Given the description of an element on the screen output the (x, y) to click on. 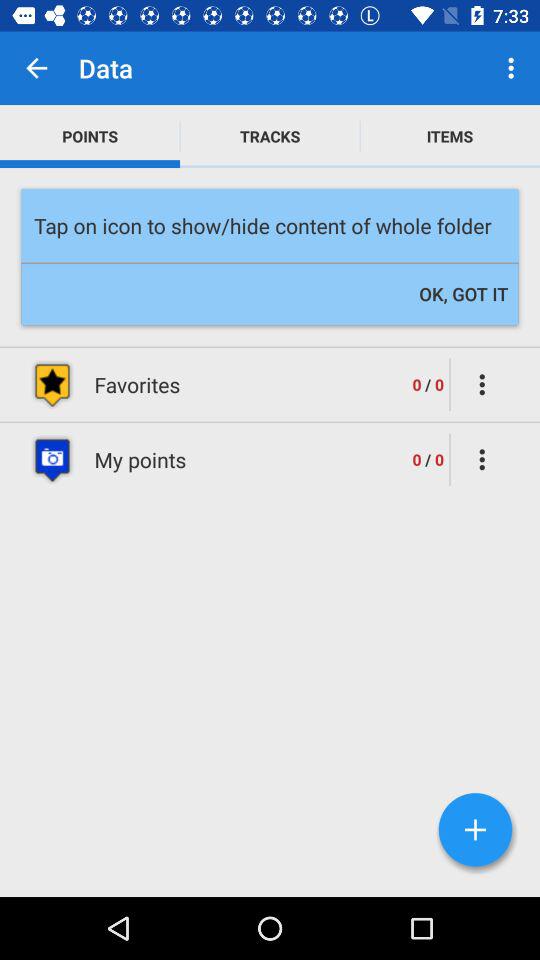
press the tap on icon icon (270, 225)
